Given the description of an element on the screen output the (x, y) to click on. 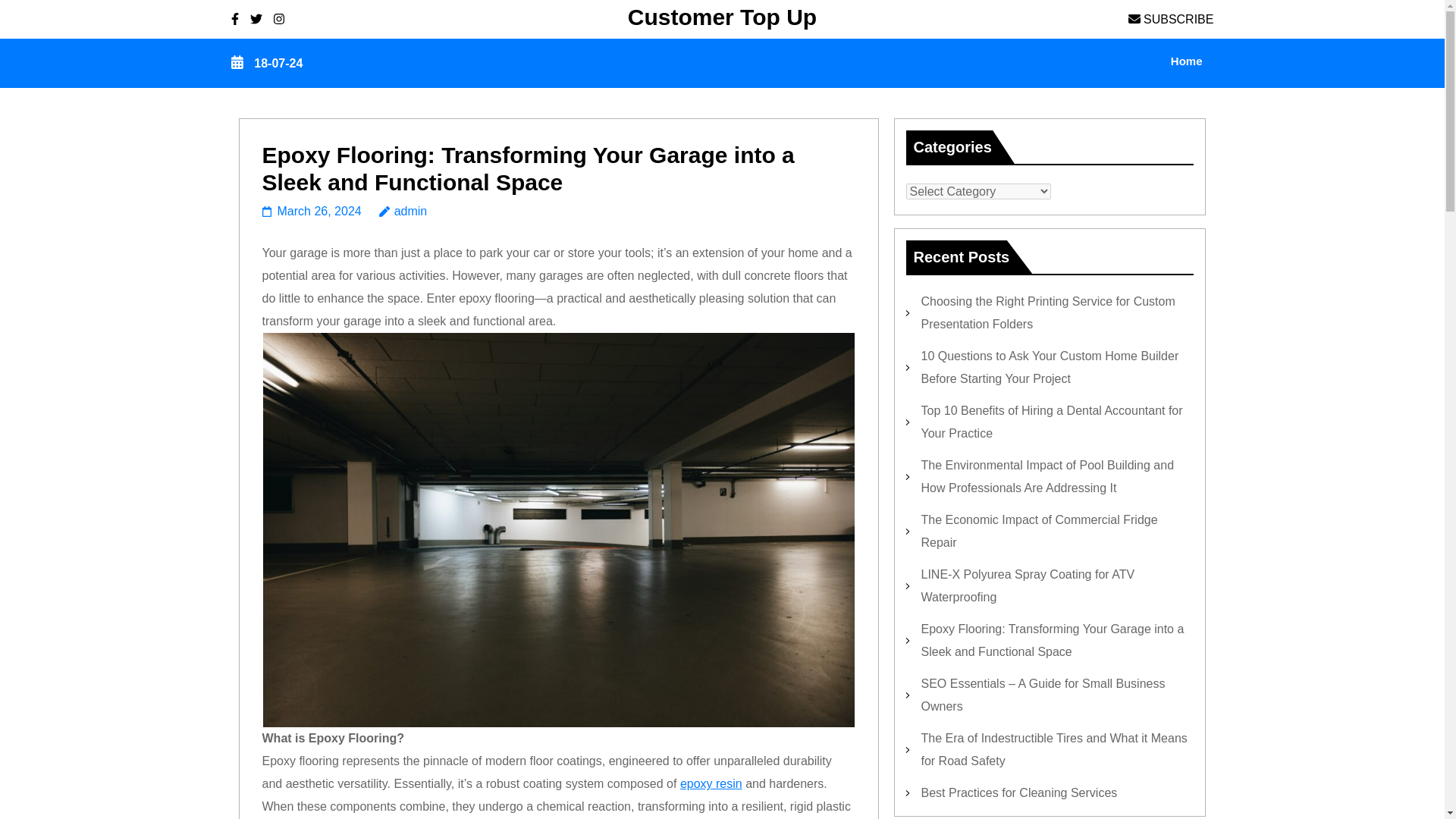
LINE-X Polyurea Spray Coating for ATV Waterproofing (1027, 585)
admin (403, 210)
The Economic Impact of Commercial Fridge Repair (1038, 530)
March 26, 2024 (311, 210)
SUBSCRIBE (1171, 18)
Home (1186, 62)
Best Practices for Cleaning Services (1018, 792)
Customer Top Up (721, 16)
epoxy resin (710, 783)
